Given the description of an element on the screen output the (x, y) to click on. 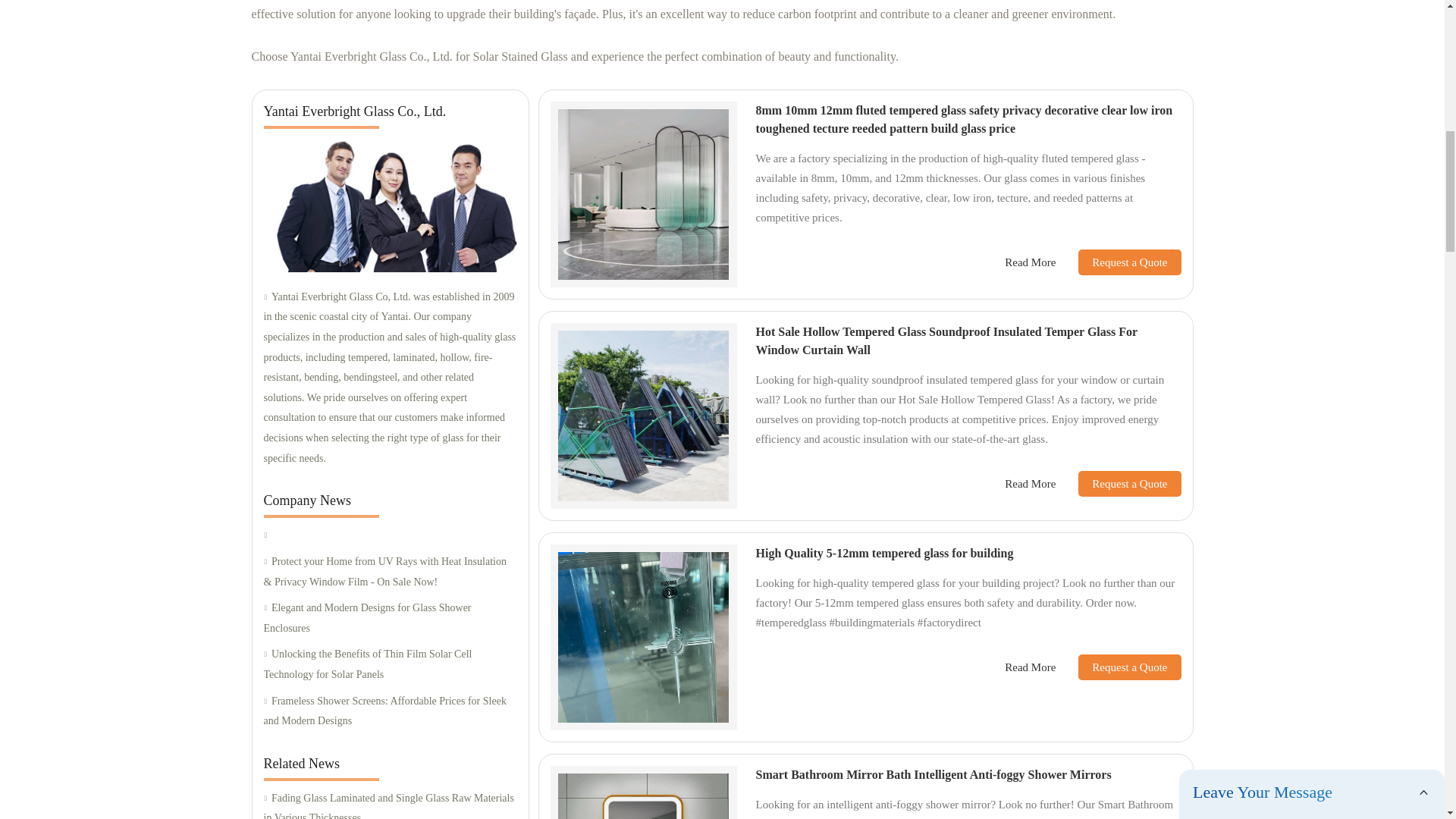
Request a Quote (1117, 262)
Read More (1029, 262)
Elegant and Modern Designs for Glass Shower Enclosures (389, 618)
Read More (1029, 484)
Request a Quote (1117, 483)
